Given the description of an element on the screen output the (x, y) to click on. 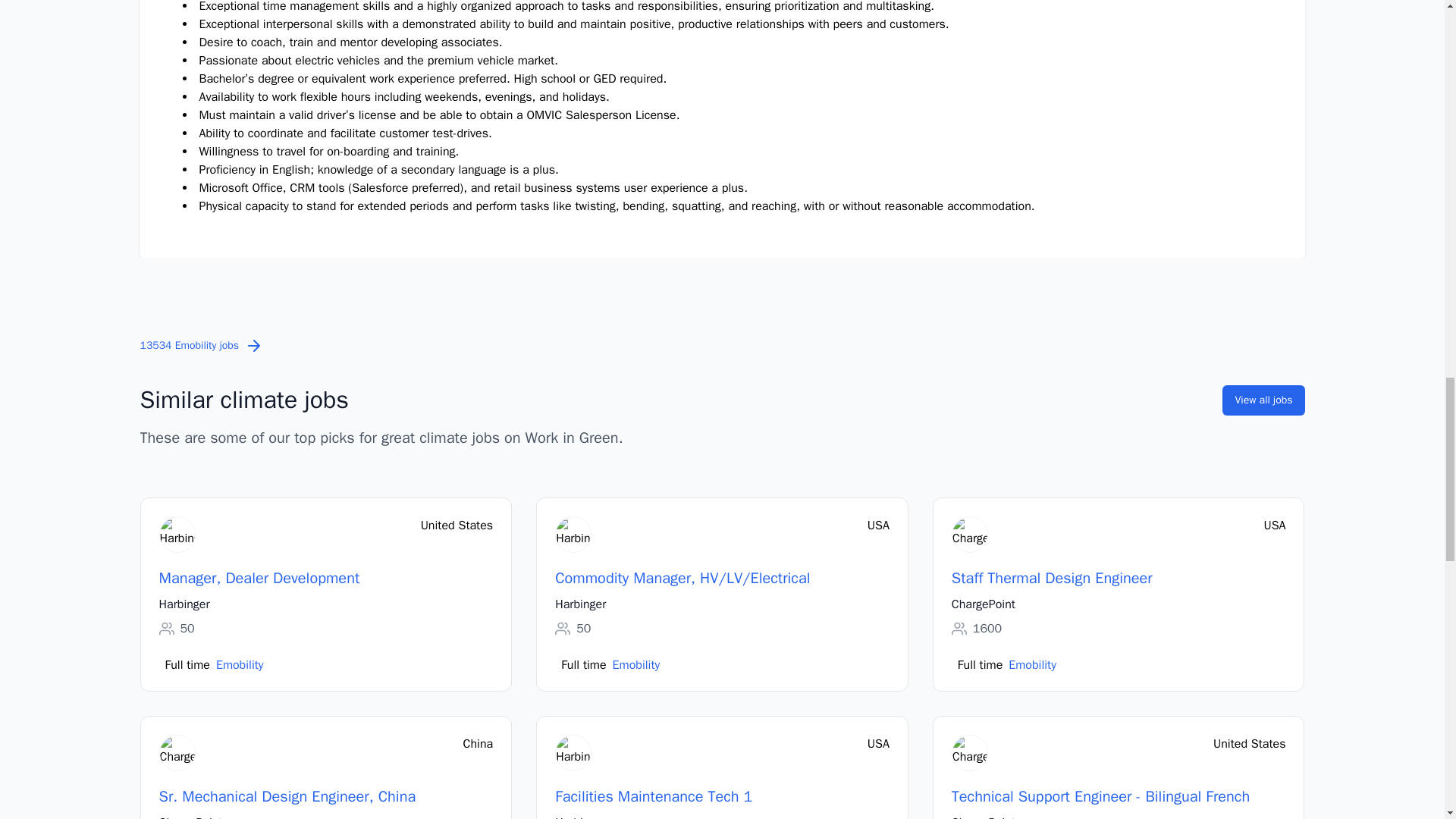
Emobility (239, 665)
Facilities Maintenance Tech 1 (653, 796)
Sr. Mechanical Design Engineer, China (287, 796)
13534 Emobility jobs (201, 345)
ChargePoint (983, 816)
Harbinger (183, 604)
Emobility (636, 665)
Emobility (1033, 665)
View all jobs (1263, 399)
Manager, Dealer Development (258, 578)
ChargePoint (190, 816)
Harbinger (579, 816)
Technical Support Engineer - Bilingual French (1100, 796)
Harbinger (579, 604)
ChargePoint (983, 604)
